Given the description of an element on the screen output the (x, y) to click on. 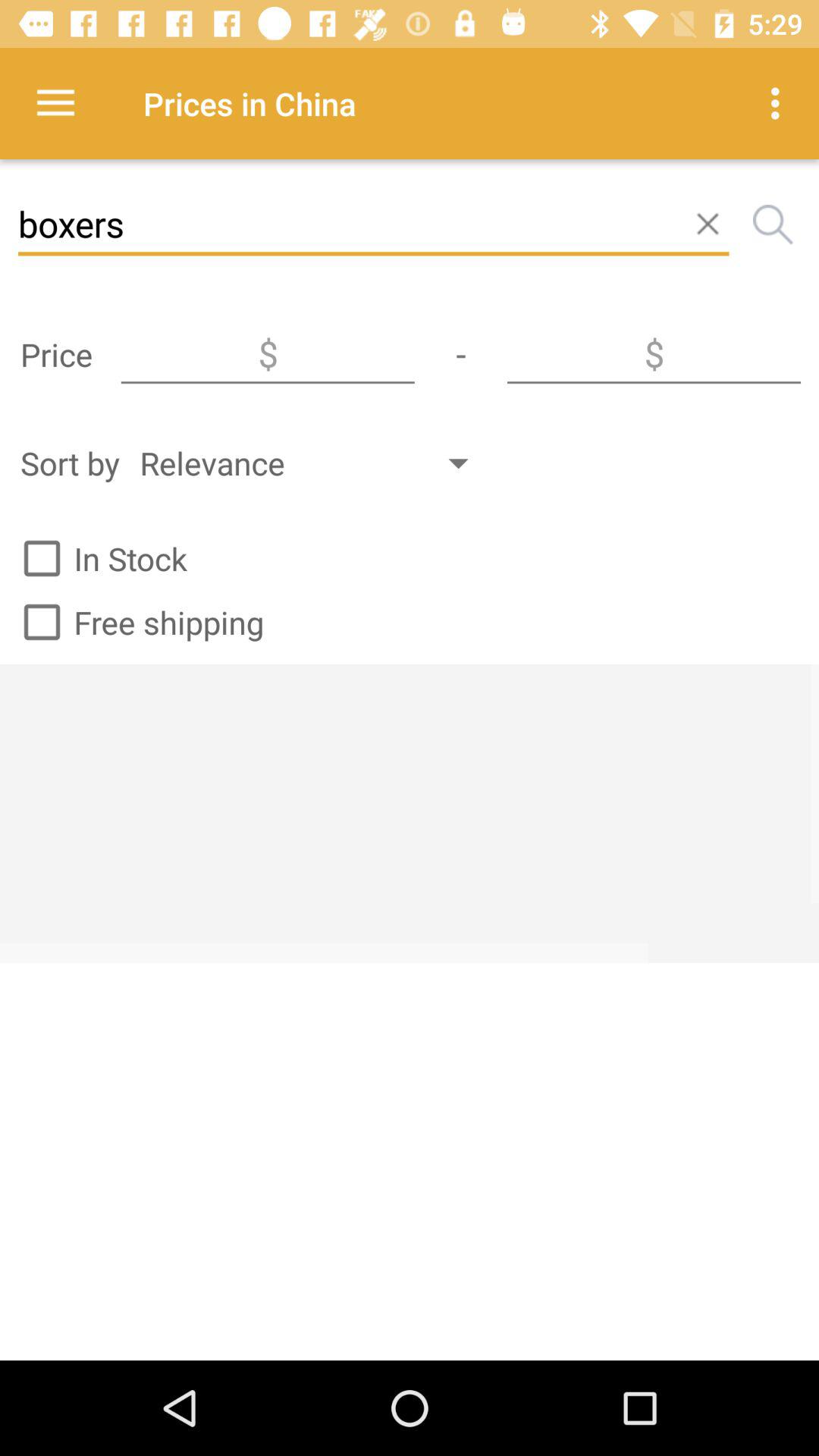
tap the item to the right of boxers (772, 224)
